Given the description of an element on the screen output the (x, y) to click on. 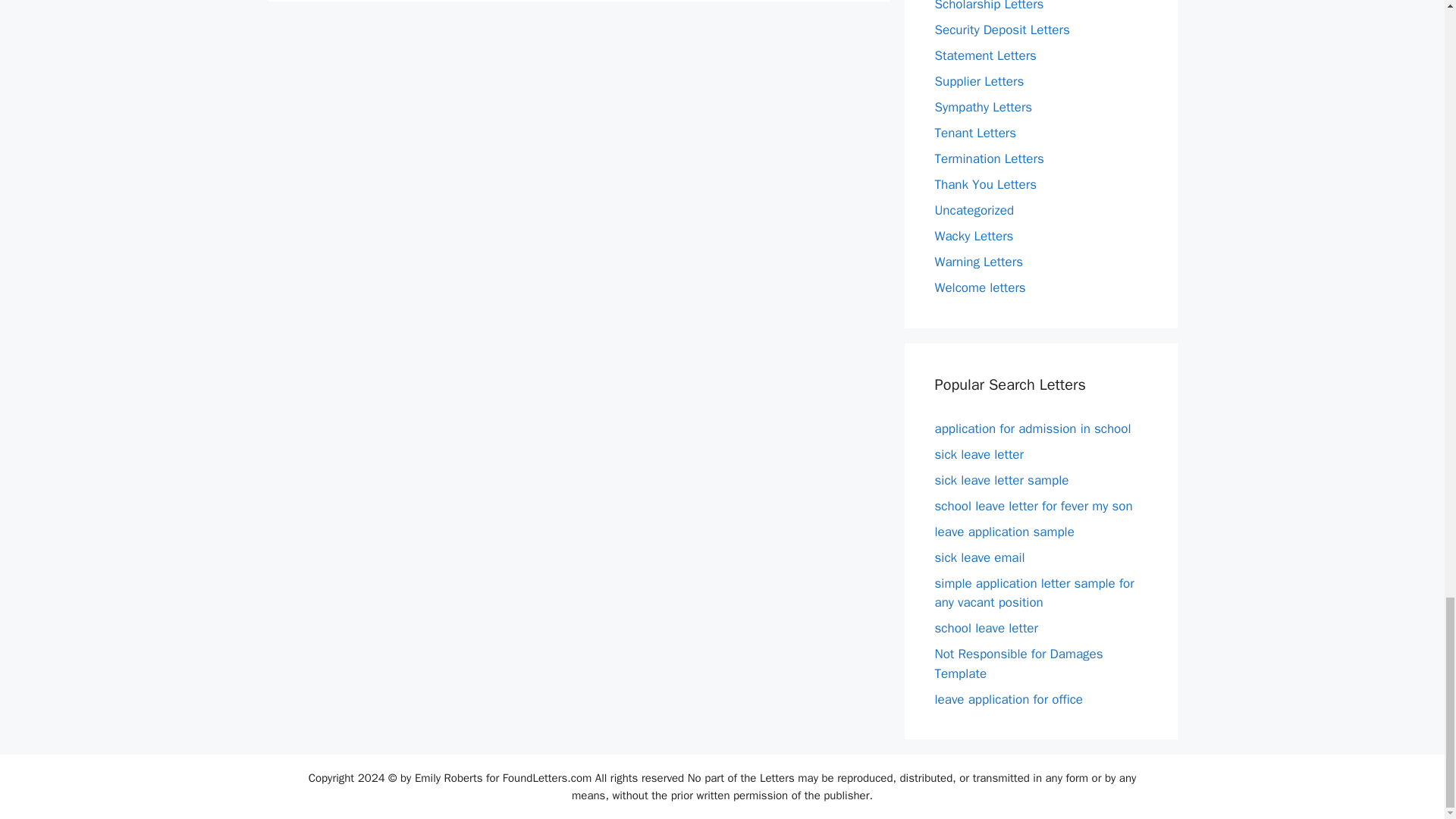
school leave letter for fever my son (1033, 505)
leave application sample (1004, 531)
Not Responsible for Damages Template (1018, 663)
sick leave letter sample (1001, 480)
sick leave email (979, 557)
simple application letter sample for any vacant position (1034, 592)
application for admission in school (1032, 428)
sick leave letter (978, 454)
leave application for office (1008, 698)
school leave letter (985, 627)
